Given the description of an element on the screen output the (x, y) to click on. 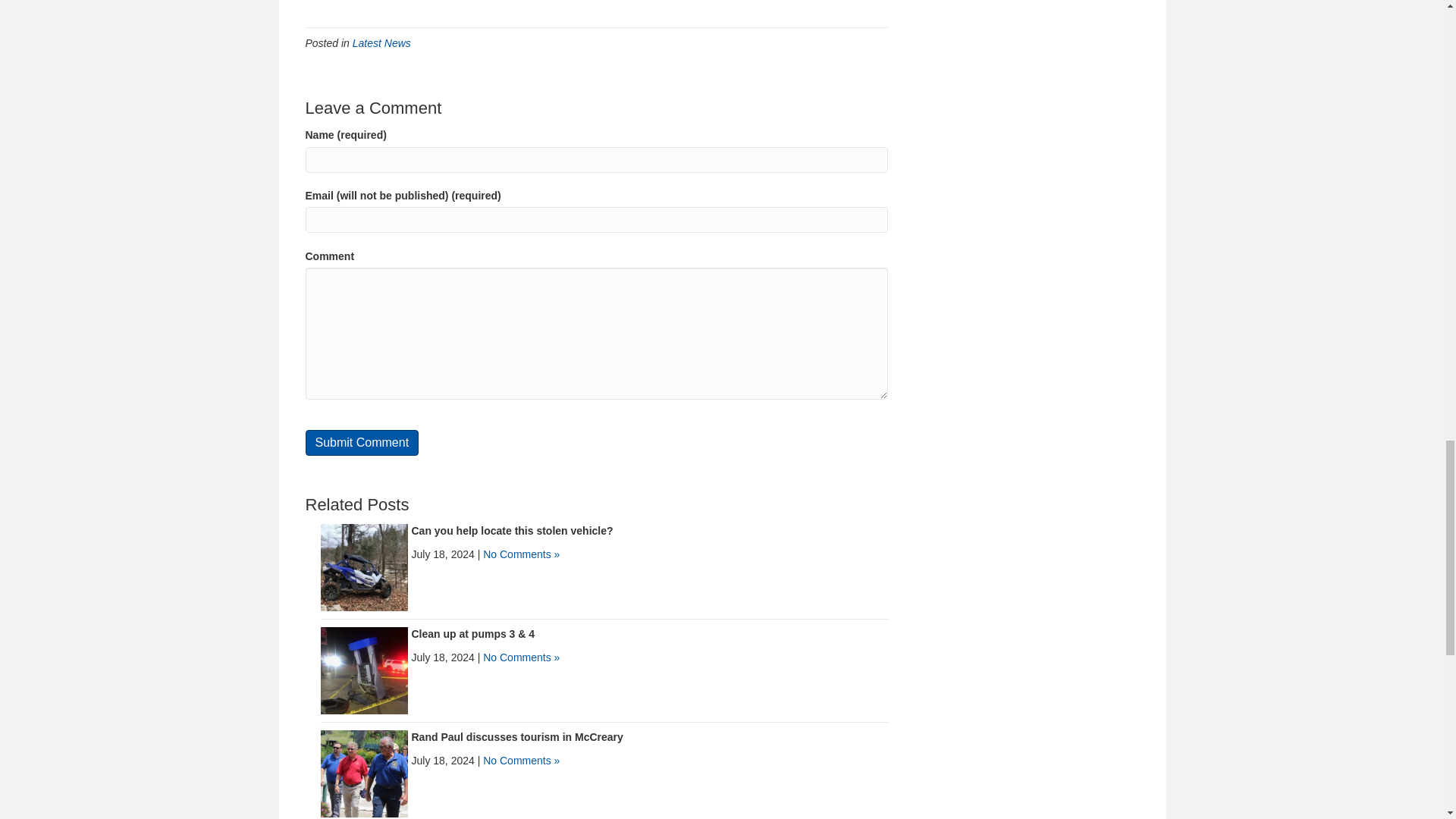
Rand Paul discusses tourism in McCreary (516, 736)
Can you help locate this stolen vehicle? (363, 567)
Rand Paul discusses tourism in McCreary (363, 773)
Submit Comment (361, 442)
Can you help locate this stolen vehicle? (511, 530)
